Given the description of an element on the screen output the (x, y) to click on. 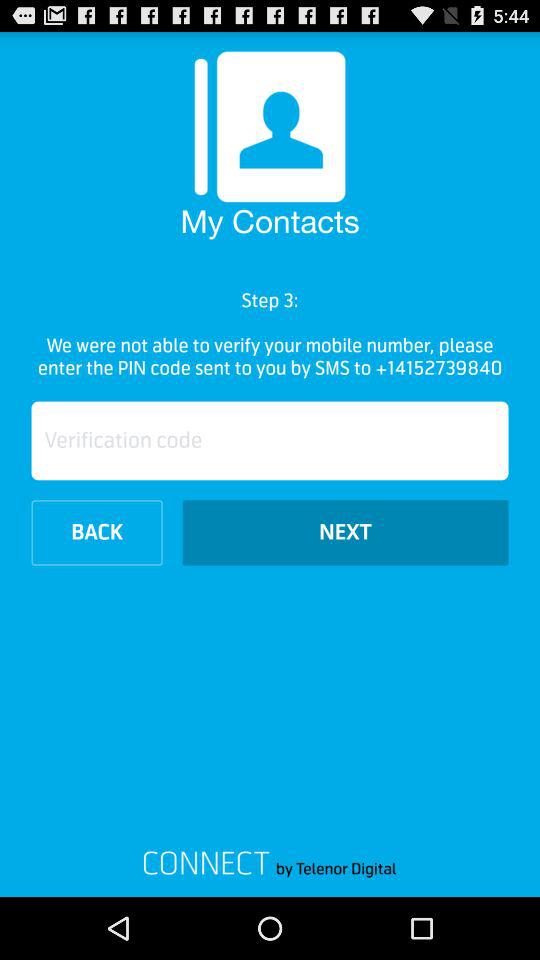
click the item below the we were not icon (269, 440)
